Given the description of an element on the screen output the (x, y) to click on. 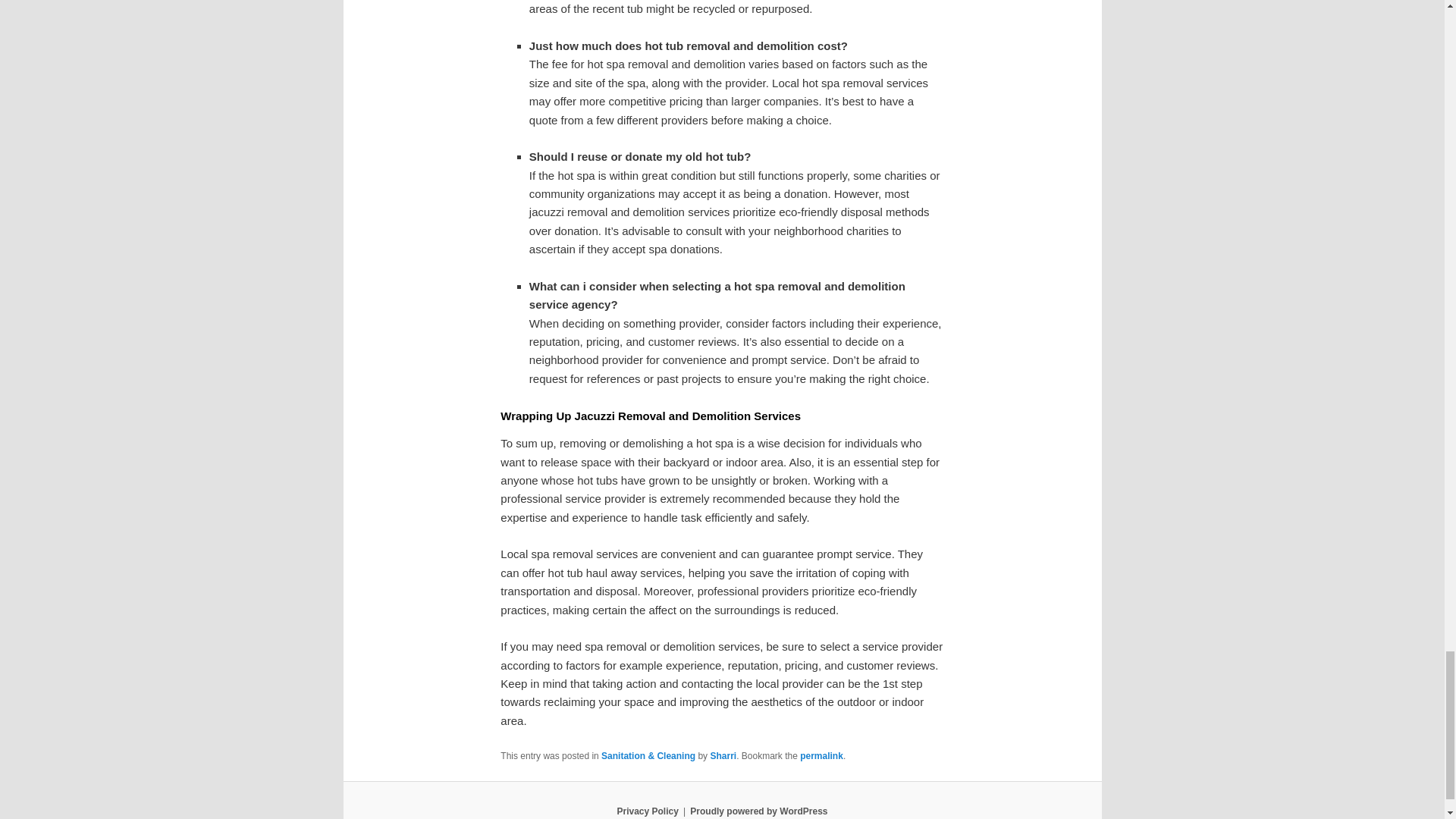
Semantic Personal Publishing Platform (758, 810)
Proudly powered by WordPress (758, 810)
Privacy Policy (646, 810)
Sharri (723, 756)
permalink (821, 756)
